Given the description of an element on the screen output the (x, y) to click on. 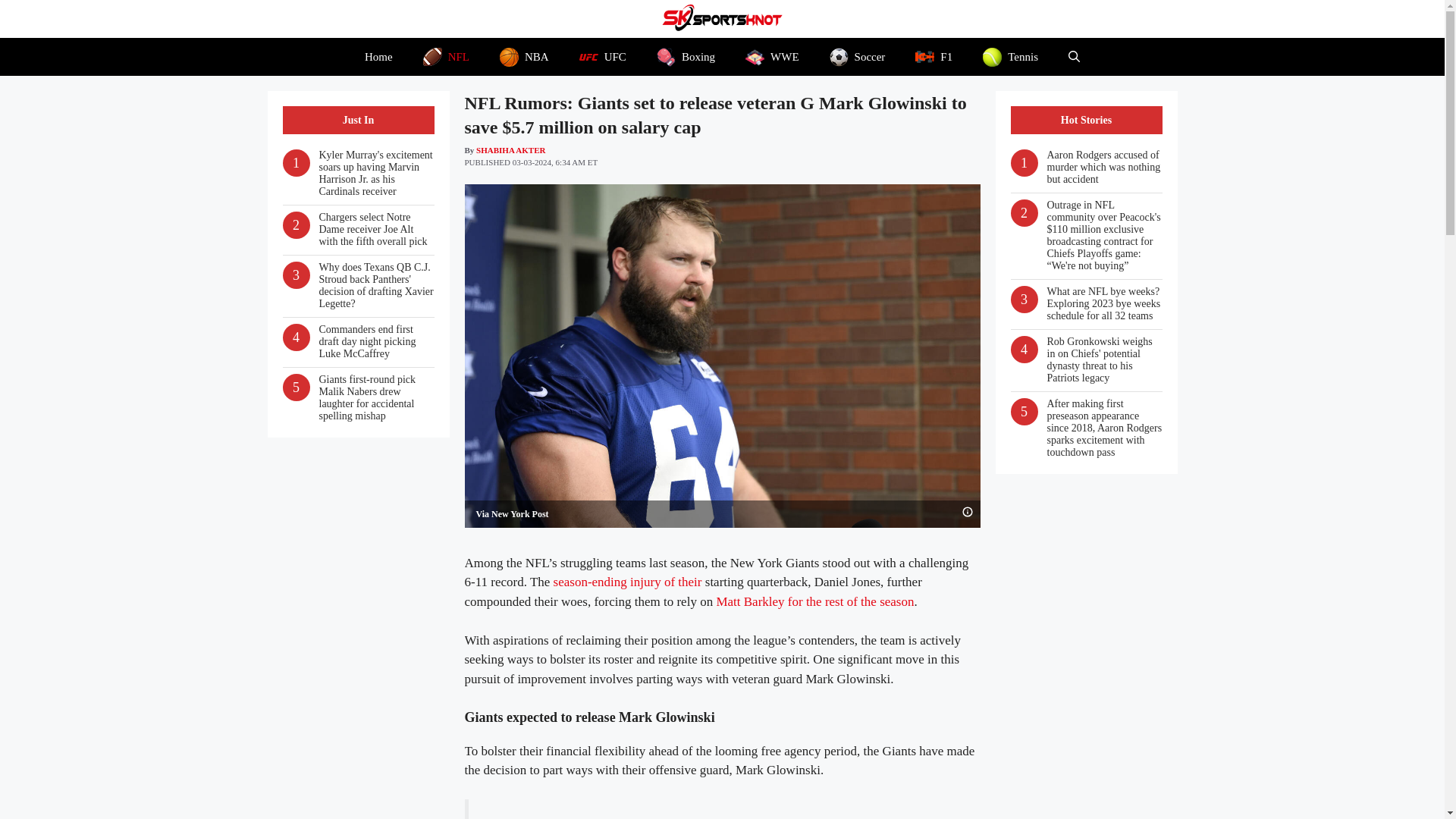
NFL (445, 56)
Soccer (857, 56)
Home (378, 56)
NBA (524, 56)
UFC (603, 56)
View all posts by Shabiha Akter (510, 149)
season-ending injury of their (627, 581)
SHABIHA AKTER (510, 149)
Boxing (686, 56)
Matt Barkley for the rest of the season (815, 601)
